Given the description of an element on the screen output the (x, y) to click on. 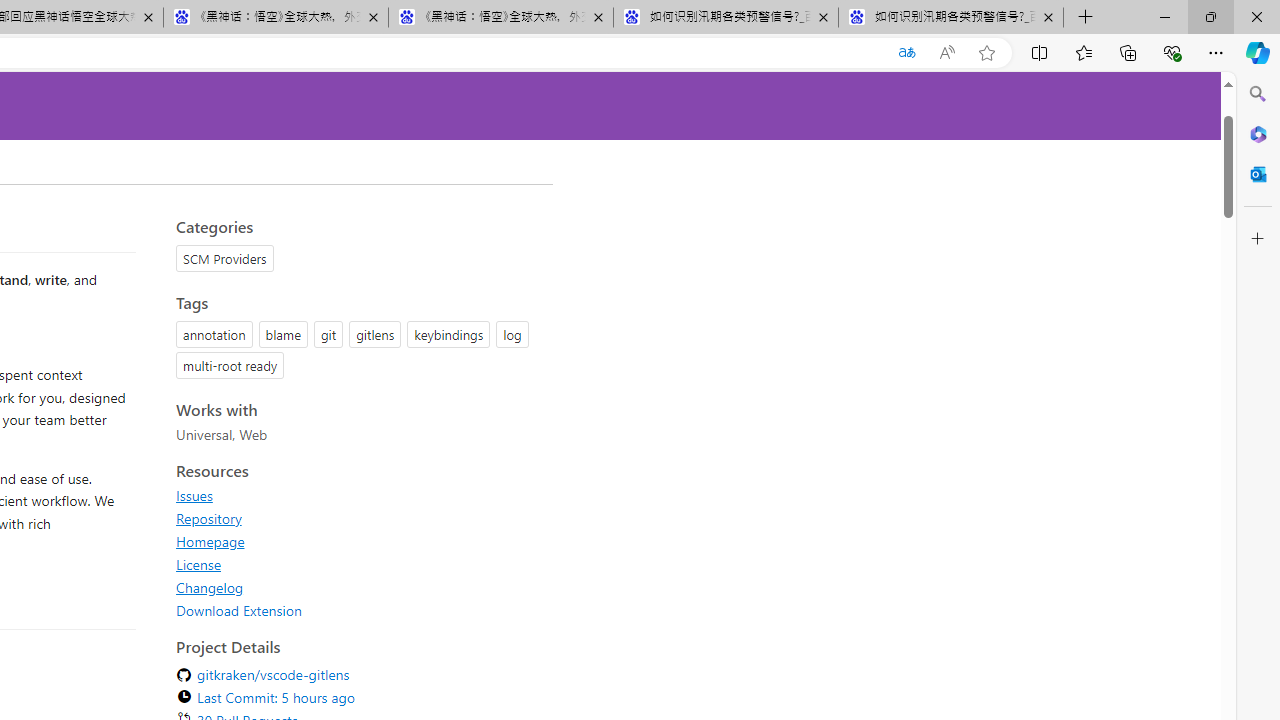
Download Extension (358, 610)
Translated (906, 53)
License (358, 564)
Changelog (358, 587)
Repository (358, 518)
